Given the description of an element on the screen output the (x, y) to click on. 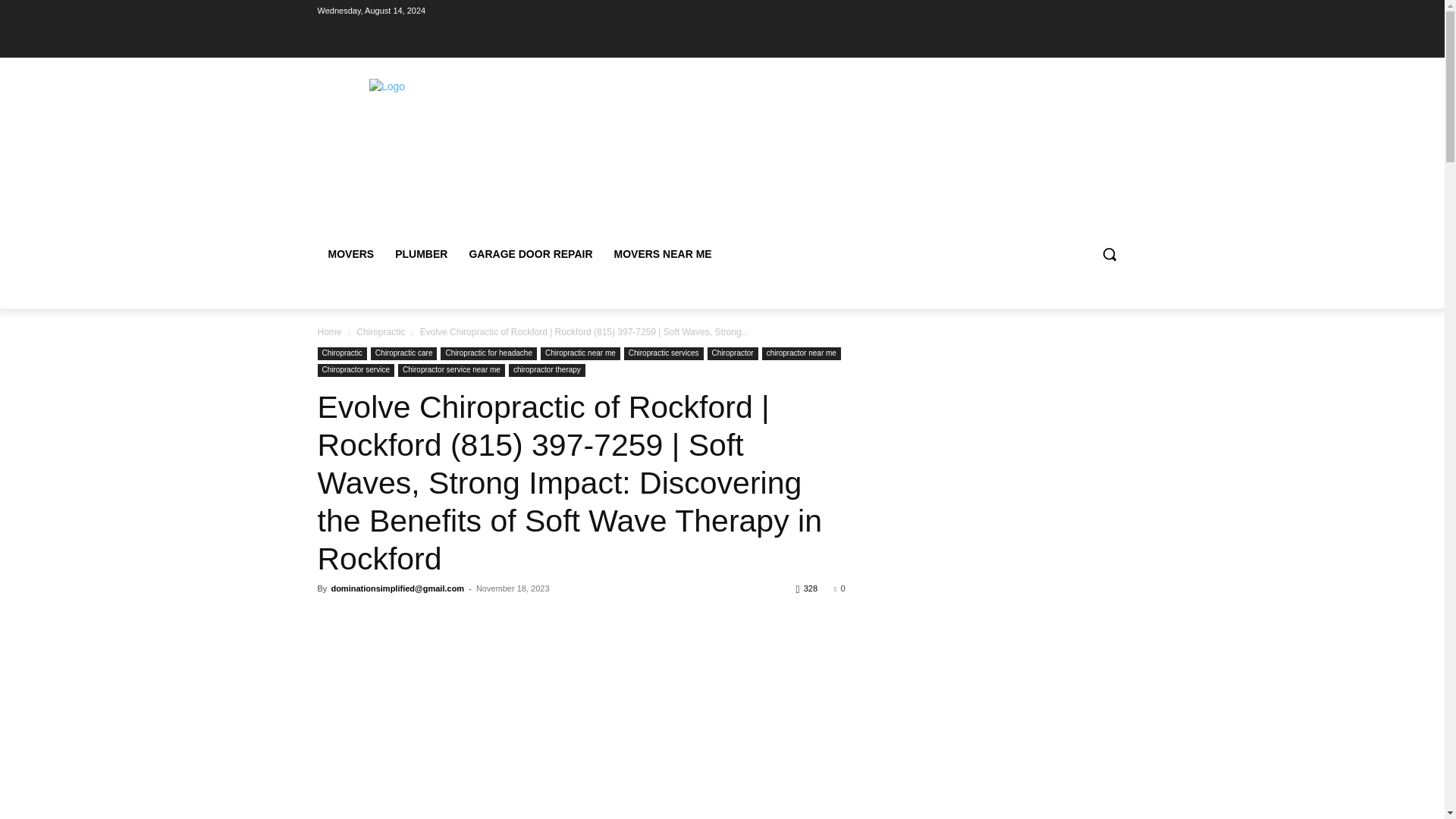
Home (328, 331)
Chiropractor (732, 353)
Chiropractic care (404, 353)
PLUMBER (421, 253)
chiropractor near me (801, 353)
MOVERS NEAR ME (663, 253)
Chiropractor service (355, 369)
Chiropractic for headache (489, 353)
Chiropractic services (663, 353)
chiropractor therapy (546, 369)
